Given the description of an element on the screen output the (x, y) to click on. 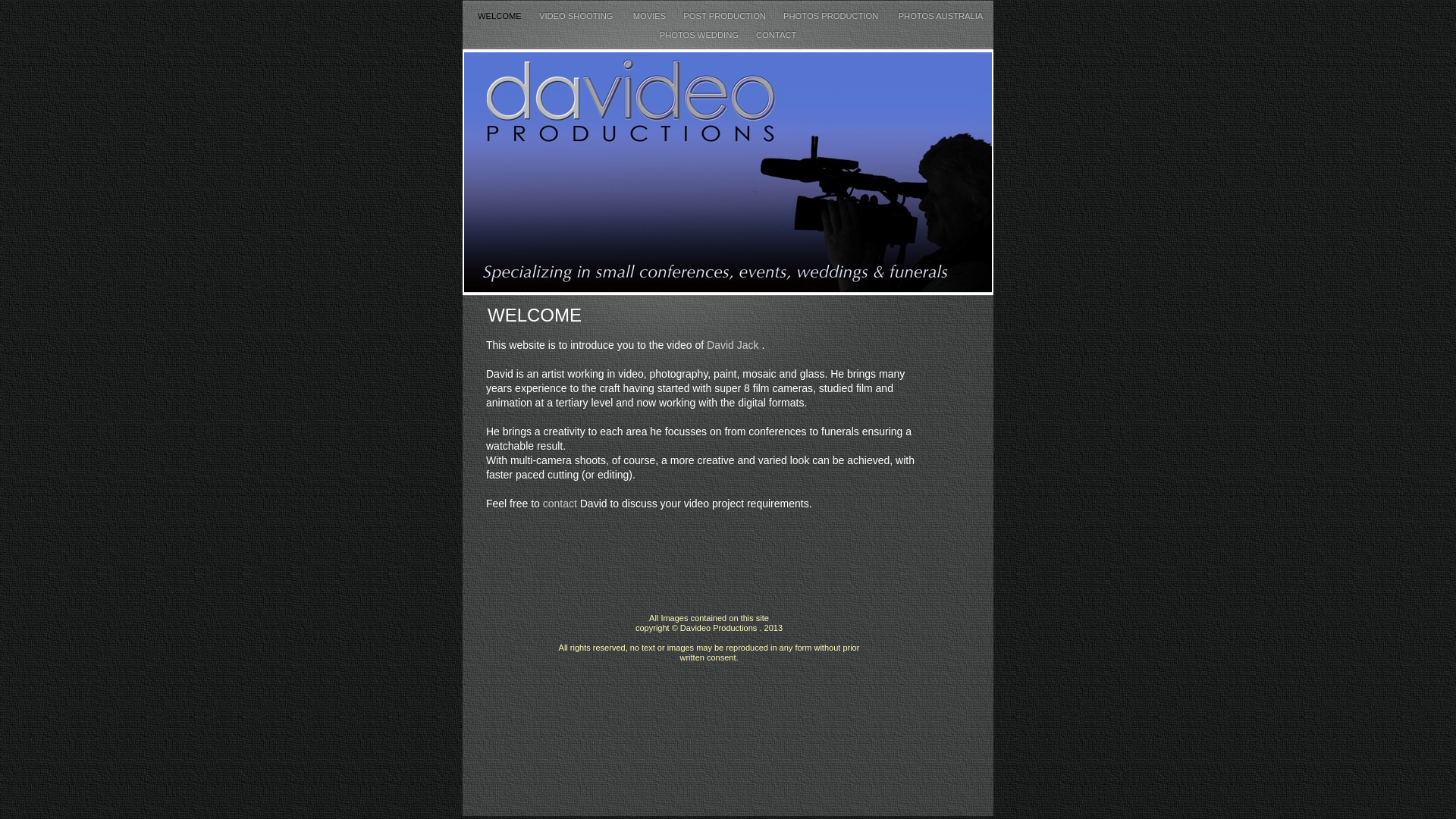
VIDEO SHOOTING  Element type: text (578, 15)
MOVIES Element type: text (650, 15)
PHOTOS WEDDING Element type: text (699, 34)
David Jack Element type: text (732, 344)
PHOTOS AUSTRALIA Element type: text (940, 15)
CONTACT Element type: text (776, 34)
WELCOME Element type: text (500, 15)
contact Element type: text (559, 503)
PHOTOS PRODUCTION  Element type: text (833, 15)
POST PRODUCTION Element type: text (725, 15)
